Given the description of an element on the screen output the (x, y) to click on. 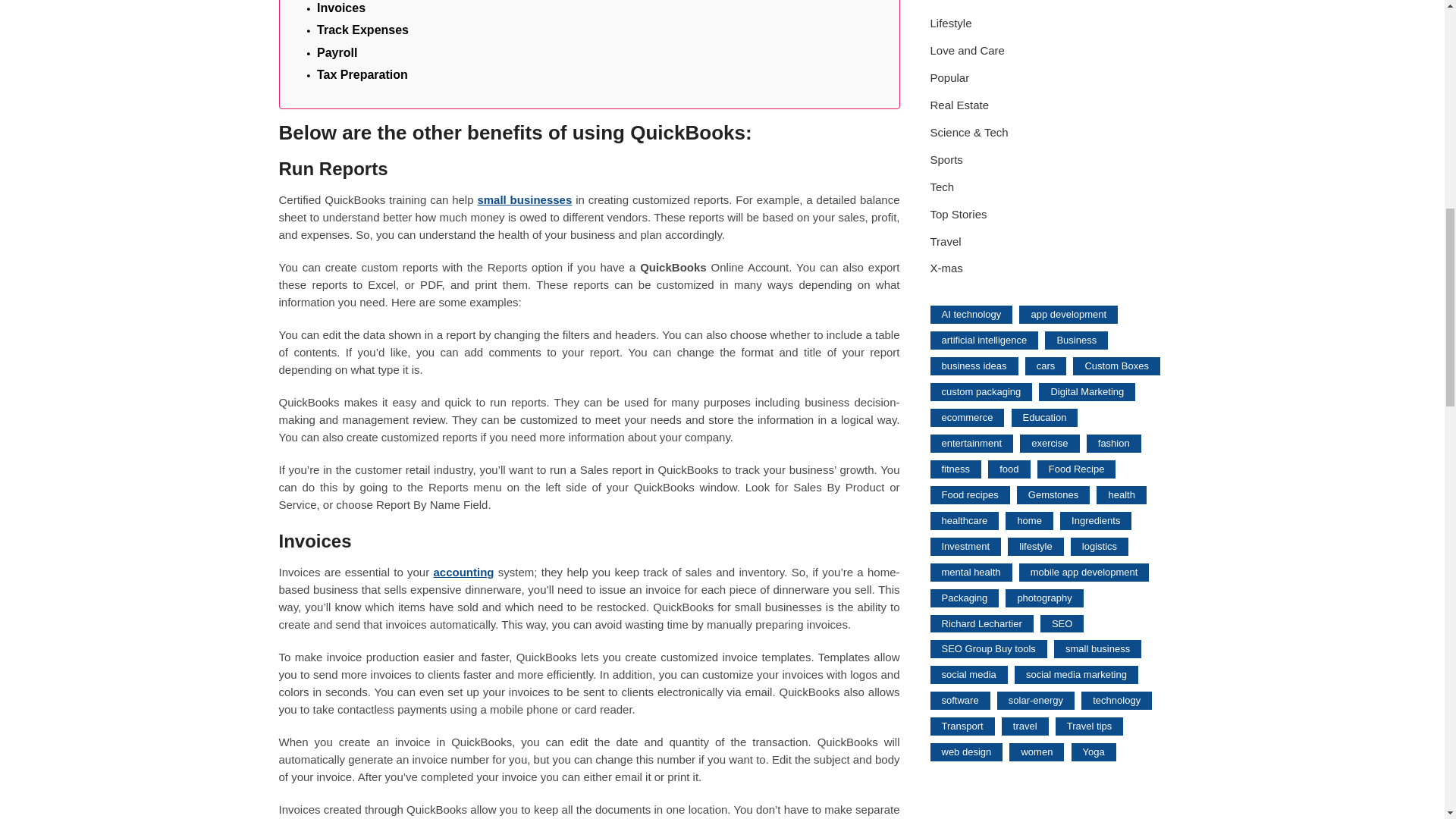
Payroll (336, 53)
Invoices (341, 9)
Tax Preparation (362, 75)
Track Expenses (363, 30)
